Given the description of an element on the screen output the (x, y) to click on. 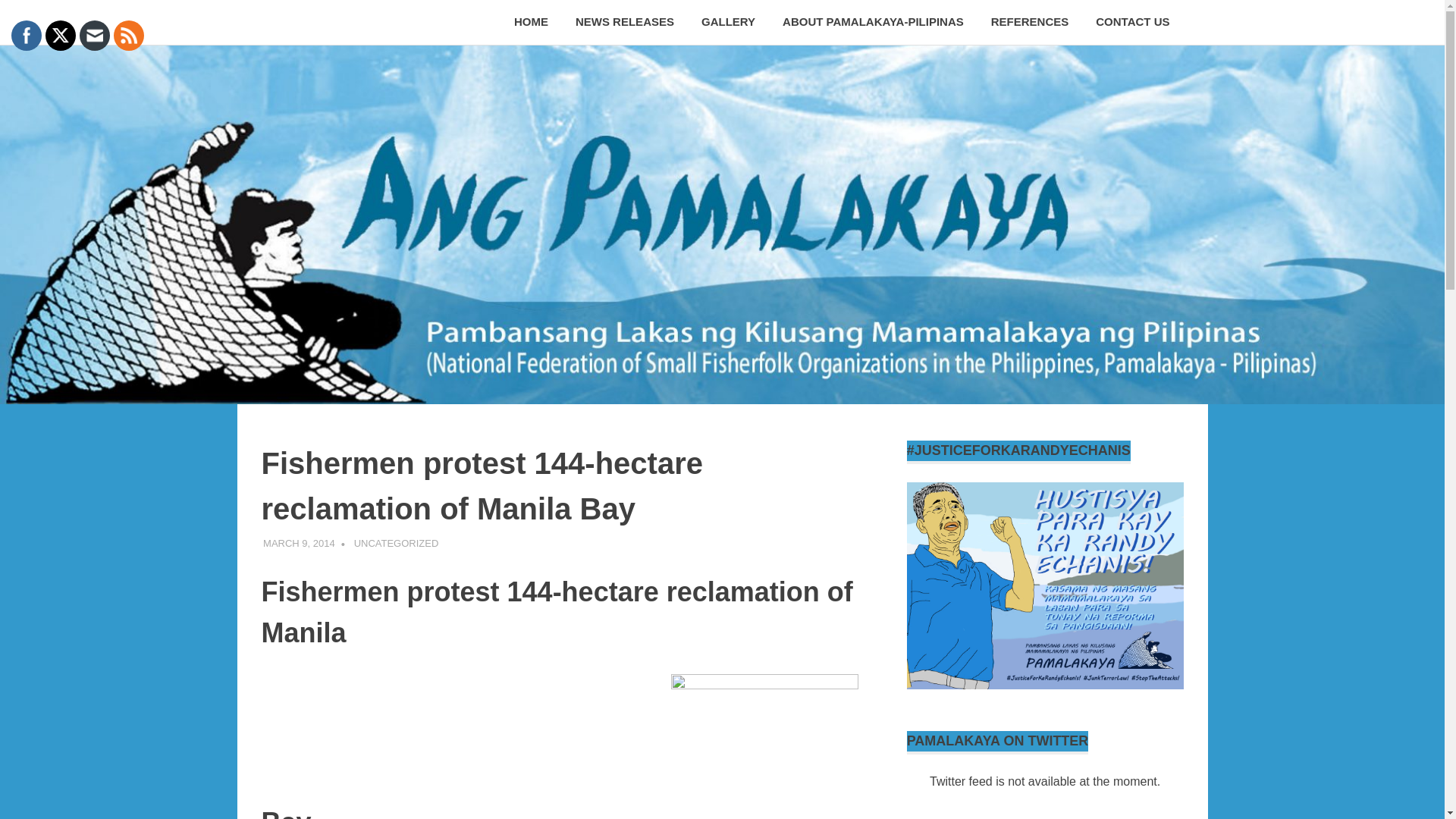
PAMALAKAYAWEB (394, 542)
2:27 am (298, 542)
HOME (531, 22)
Ang Pamalakaya - Pebrero 2020 (1045, 586)
GALLERY (727, 22)
NEWS RELEASES (624, 22)
REFERENCES (1029, 22)
ABOUT PAMALAKAYA-PILIPINAS (872, 22)
View all posts by pamalakayaweb (394, 542)
Facebook (25, 35)
Twitter (60, 35)
MARCH 9, 2014 (298, 542)
CONTACT US (1131, 22)
